Given the description of an element on the screen output the (x, y) to click on. 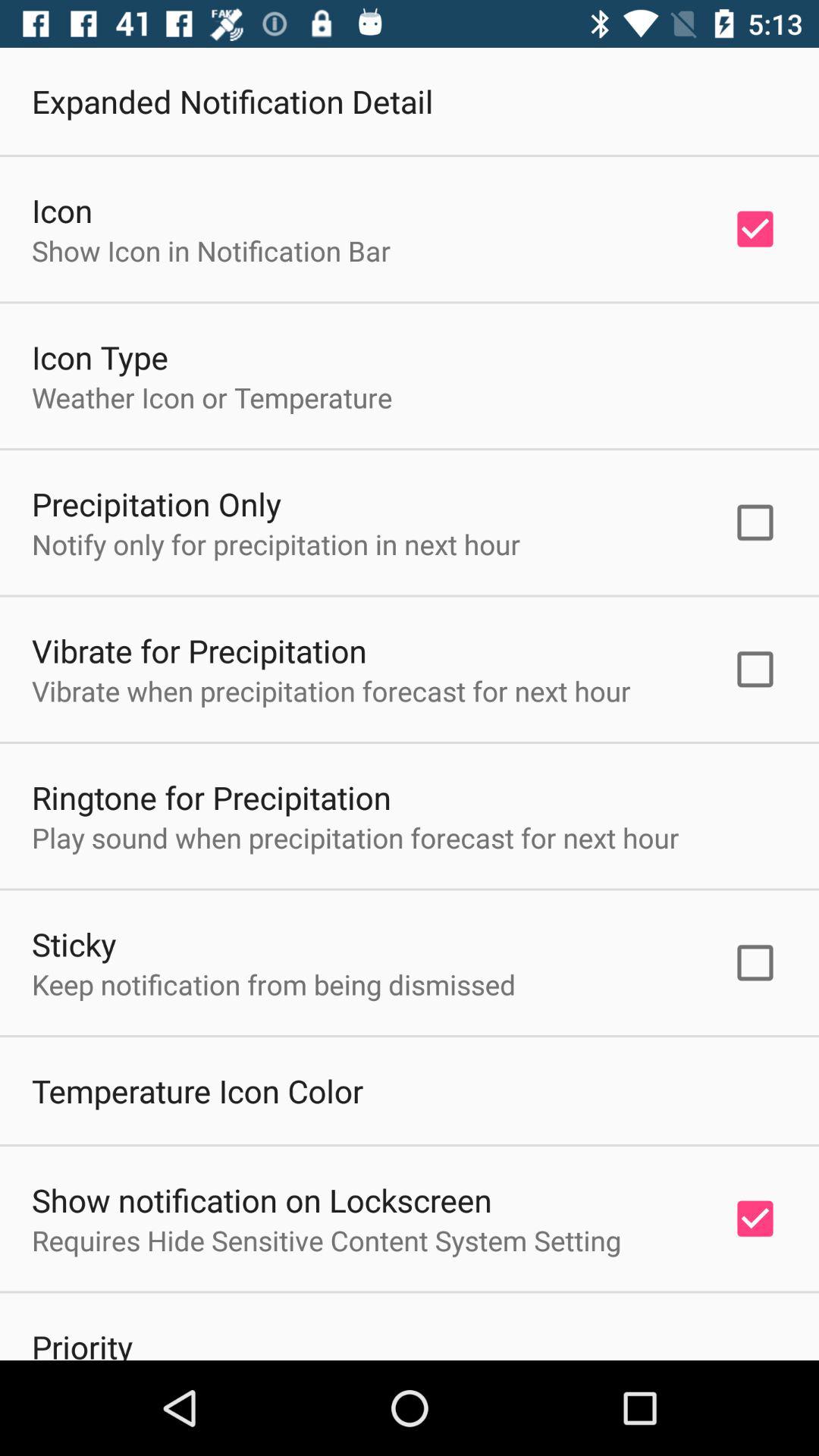
open the item above the icon type icon (210, 250)
